Given the description of an element on the screen output the (x, y) to click on. 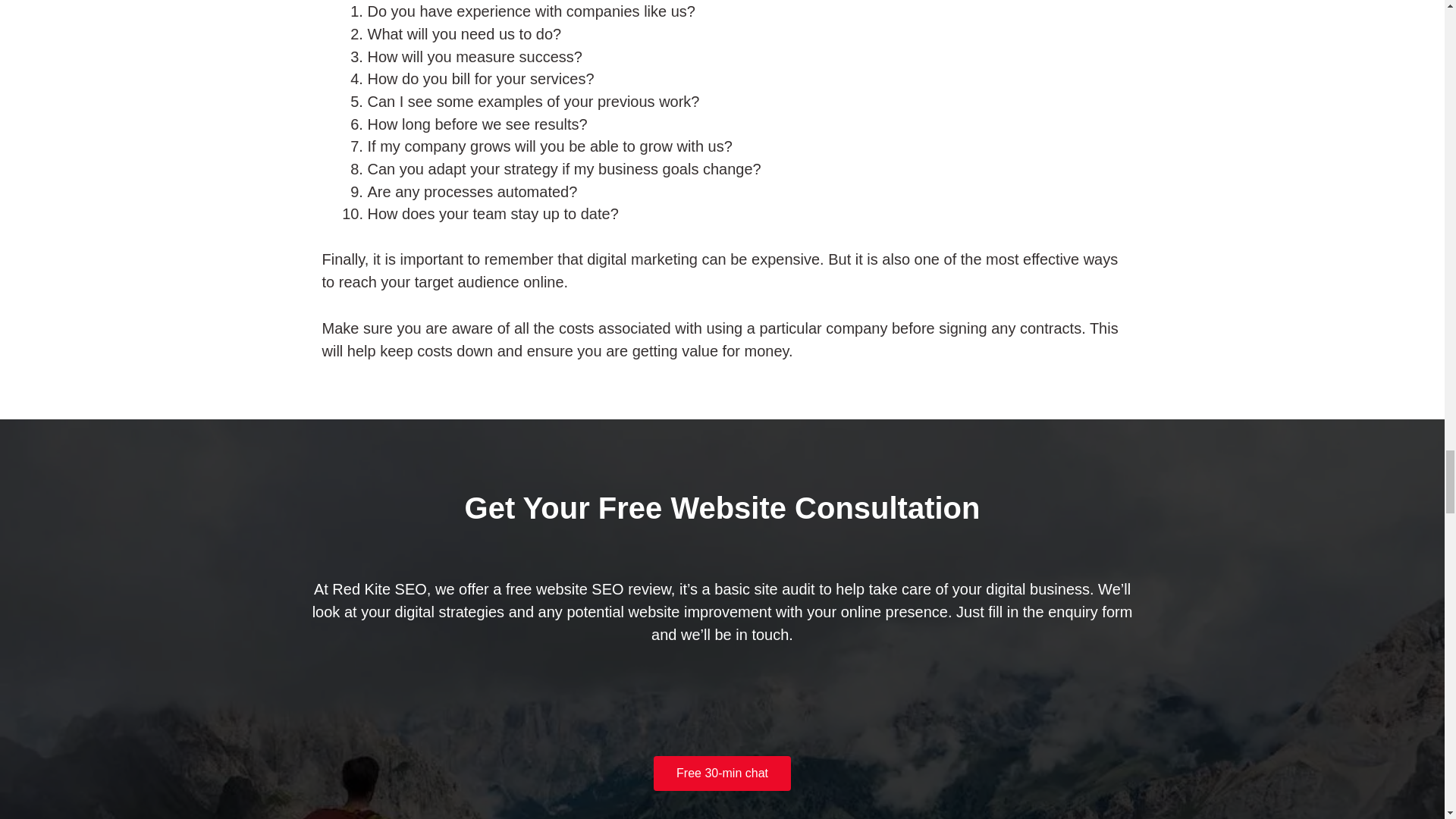
Free 30-min chat (721, 773)
